Given the description of an element on the screen output the (x, y) to click on. 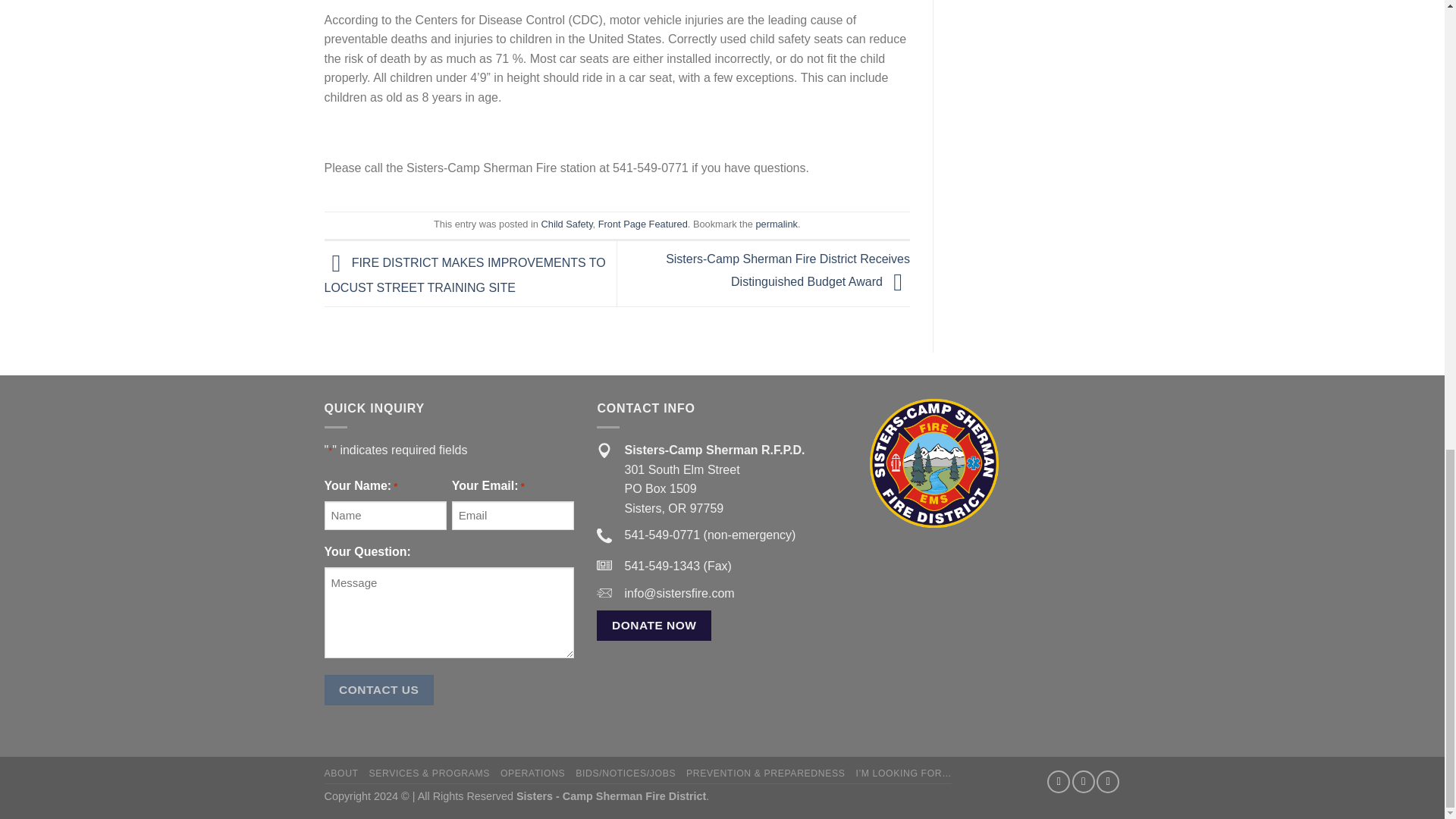
Permalink to Child Car Seat Checkup Event November 10 (775, 224)
Contact Us (378, 689)
